Given the description of an element on the screen output the (x, y) to click on. 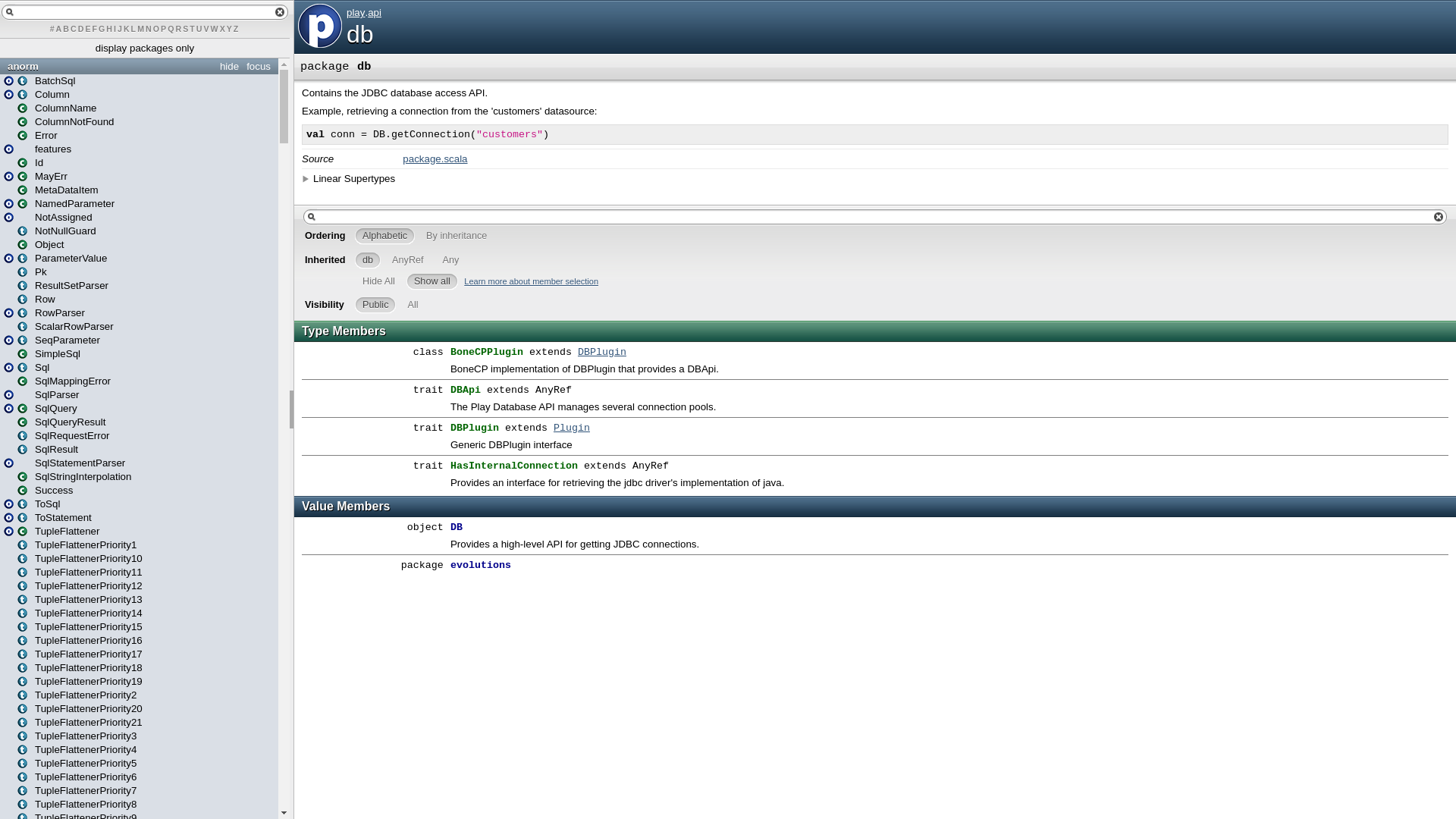
hide (229, 66)
ColumnName (56, 107)
BatchSql (46, 80)
Column (43, 93)
display packages only (144, 48)
focus (259, 66)
anorm (139, 66)
W (215, 28)
Error (37, 134)
ColumnNotFound (65, 121)
M (140, 28)
features (37, 148)
